Given the description of an element on the screen output the (x, y) to click on. 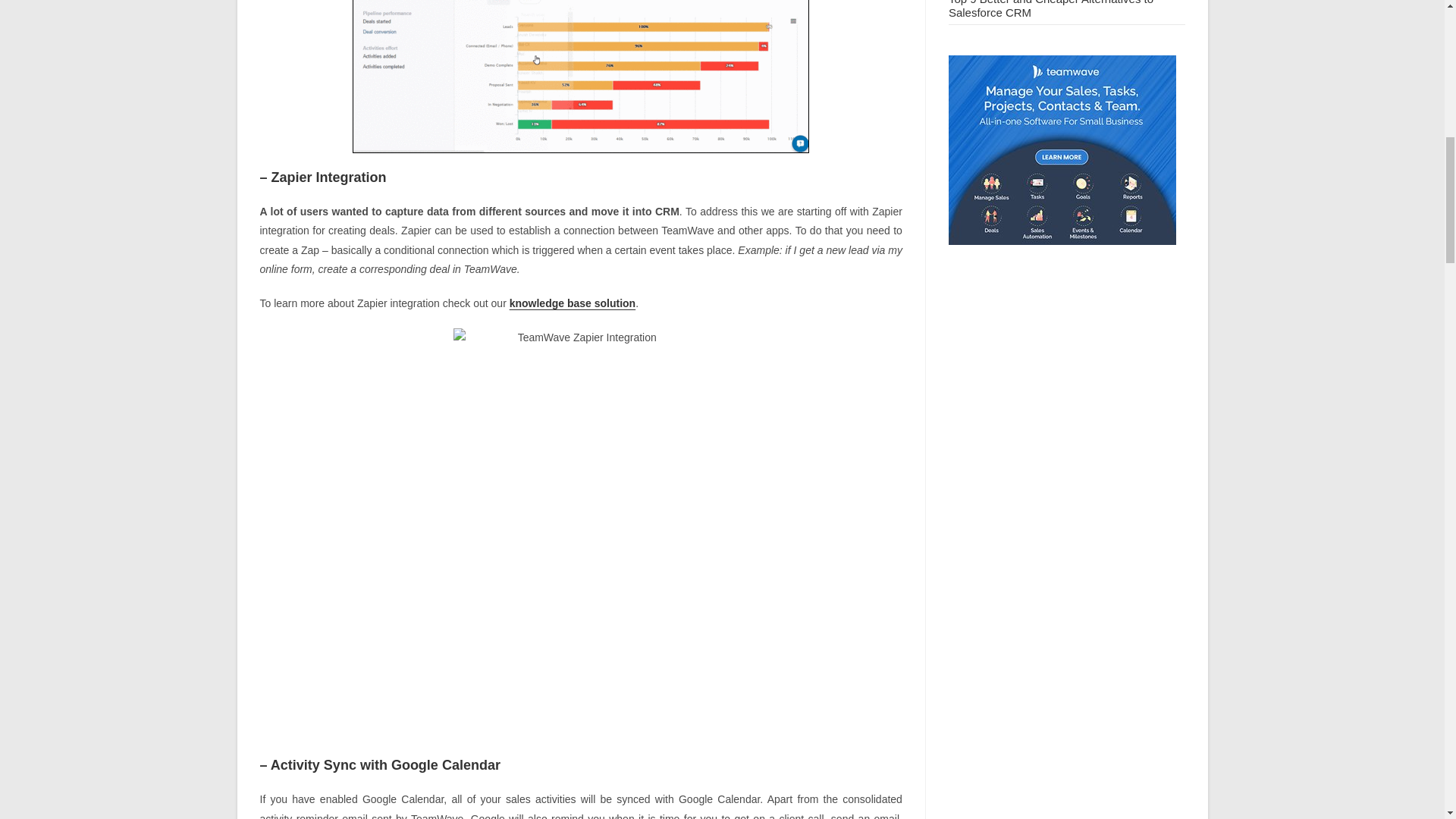
knowledge base solution (571, 303)
